Given the description of an element on the screen output the (x, y) to click on. 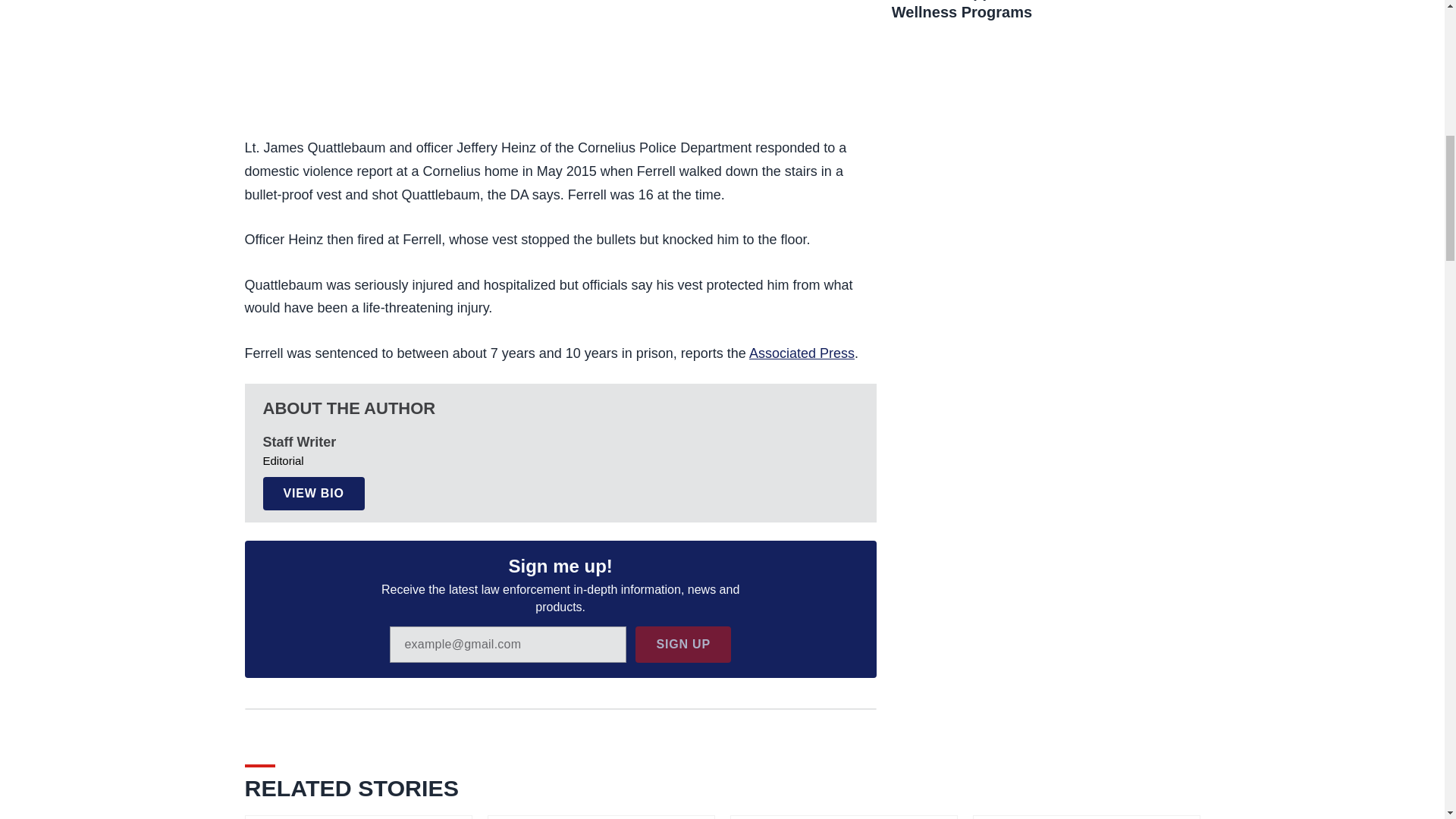
View Staff Writer's Bio (313, 493)
